Given the description of an element on the screen output the (x, y) to click on. 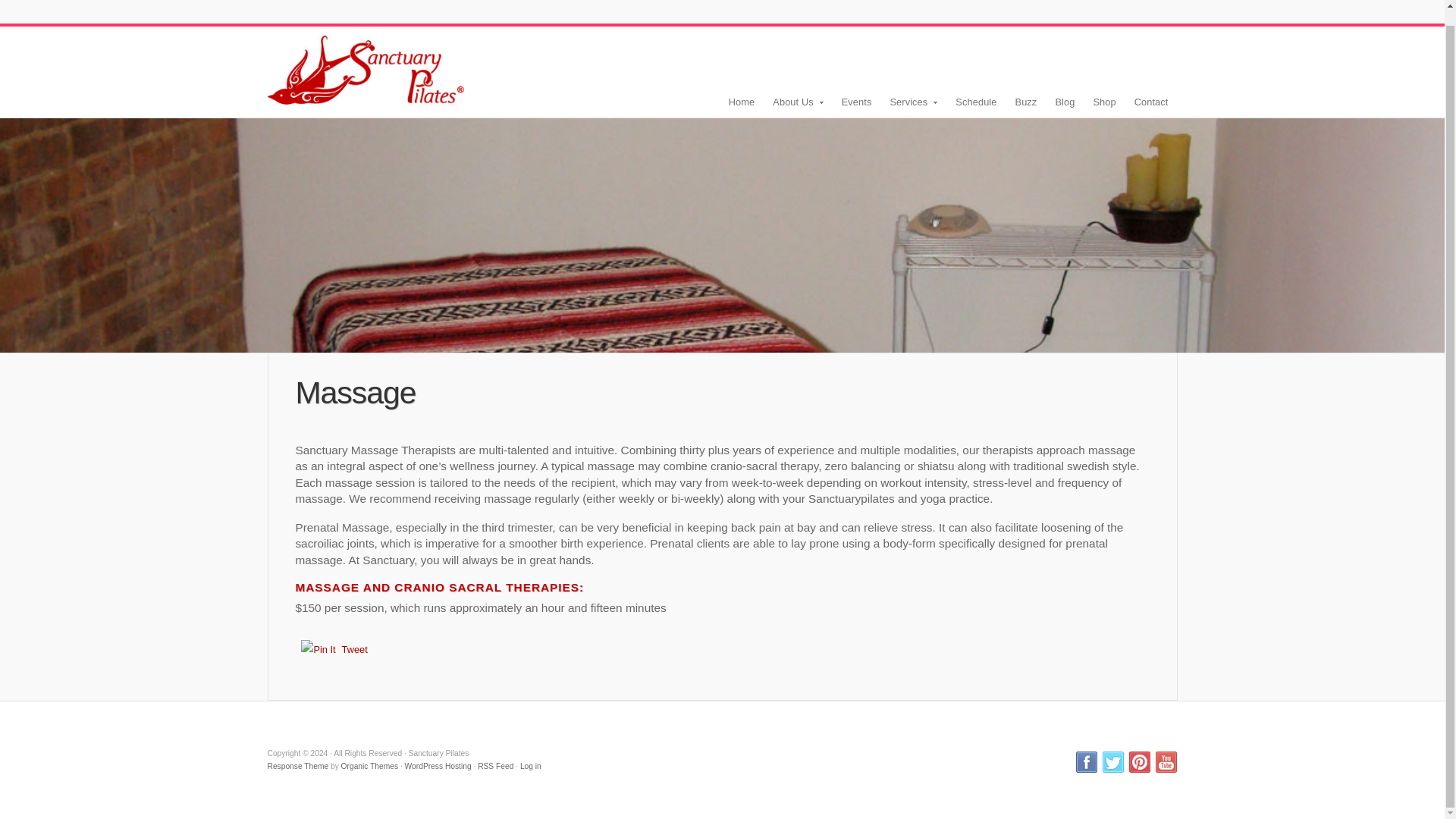
Organic Response WordPress Theme (297, 766)
Blog (1064, 101)
Organic Themes (368, 766)
Pin It (317, 649)
Premium WordPress Themes (368, 766)
RSS Feed (495, 766)
Home (365, 66)
Tweet (355, 649)
Buzz (1026, 101)
Response Theme (297, 766)
WordPress Hosting (437, 766)
WordPress Hosting (437, 766)
Sanctuary Pilates (365, 66)
Shop (1103, 101)
Contact (1151, 101)
